Given the description of an element on the screen output the (x, y) to click on. 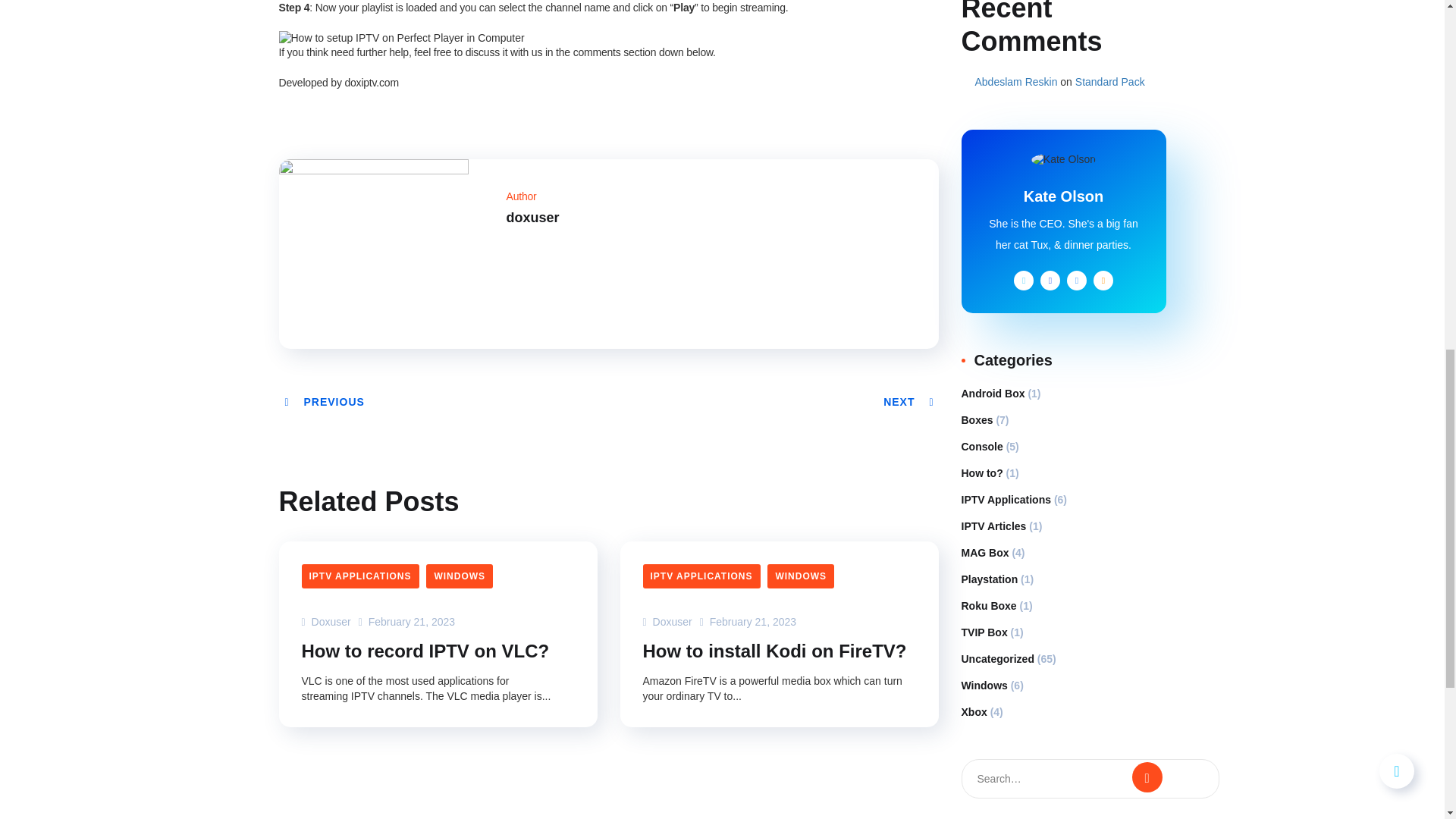
February 21, 2023 (748, 621)
IPTV APPLICATIONS (360, 576)
PREVIOUS (323, 401)
NEXT (910, 401)
Doxuser (668, 621)
WINDOWS (800, 576)
WINDOWS (459, 576)
How to install Kodi on FireTV? (775, 651)
Doxuser (325, 621)
February 21, 2023 (406, 621)
